Given the description of an element on the screen output the (x, y) to click on. 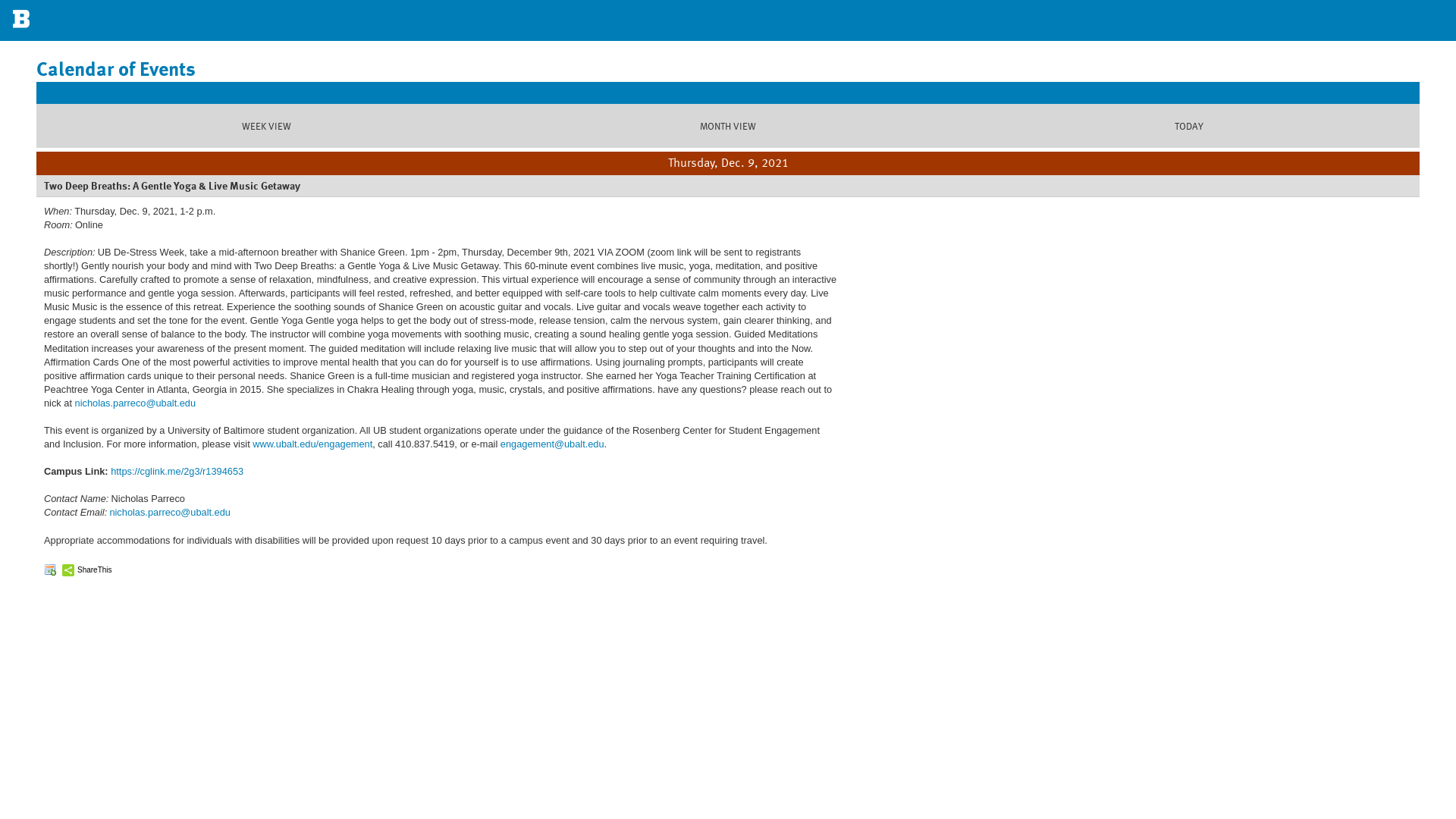
WEEK VIEW (266, 126)
MONTH VIEW (727, 126)
TODAY (1188, 126)
